Given the description of an element on the screen output the (x, y) to click on. 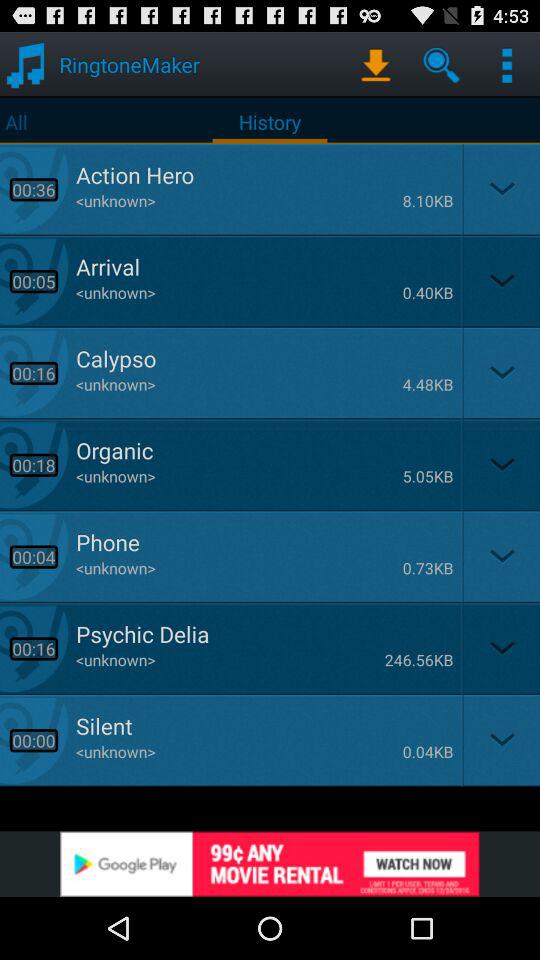
advertisement portion (270, 864)
